Given the description of an element on the screen output the (x, y) to click on. 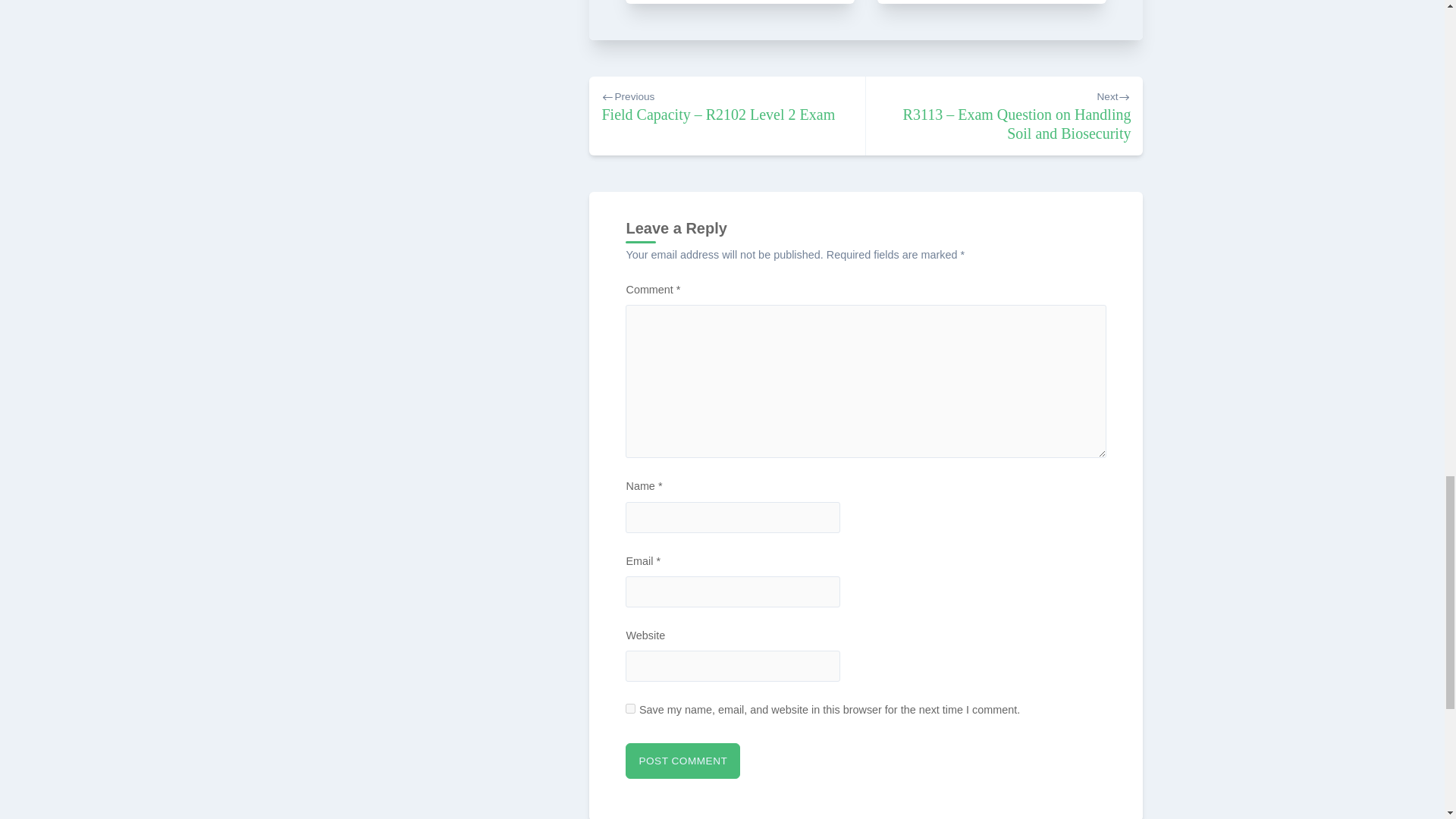
Post Comment (682, 760)
yes (630, 708)
Post Comment (682, 760)
